Given the description of an element on the screen output the (x, y) to click on. 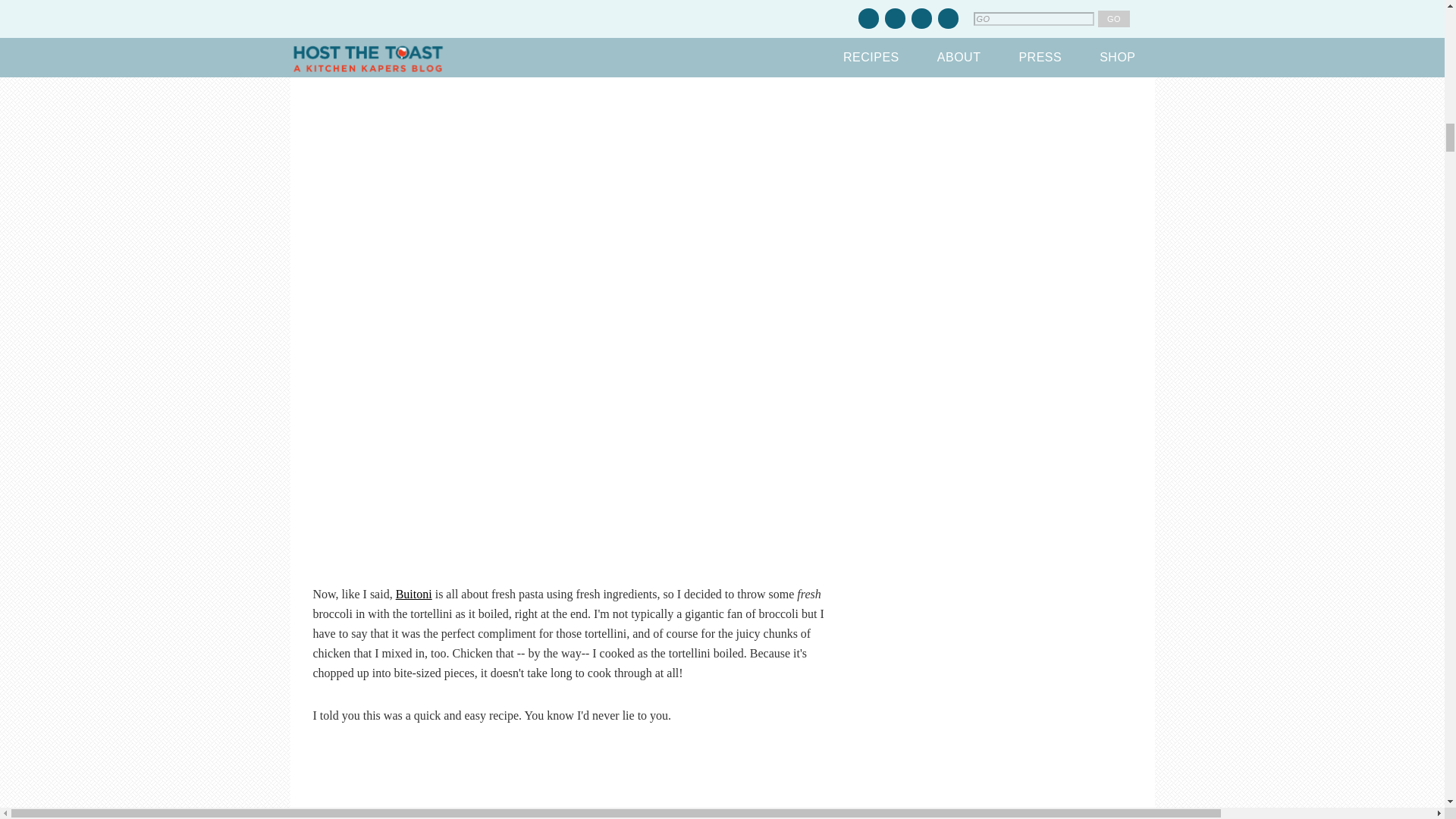
Buitoni (414, 594)
